Given the description of an element on the screen output the (x, y) to click on. 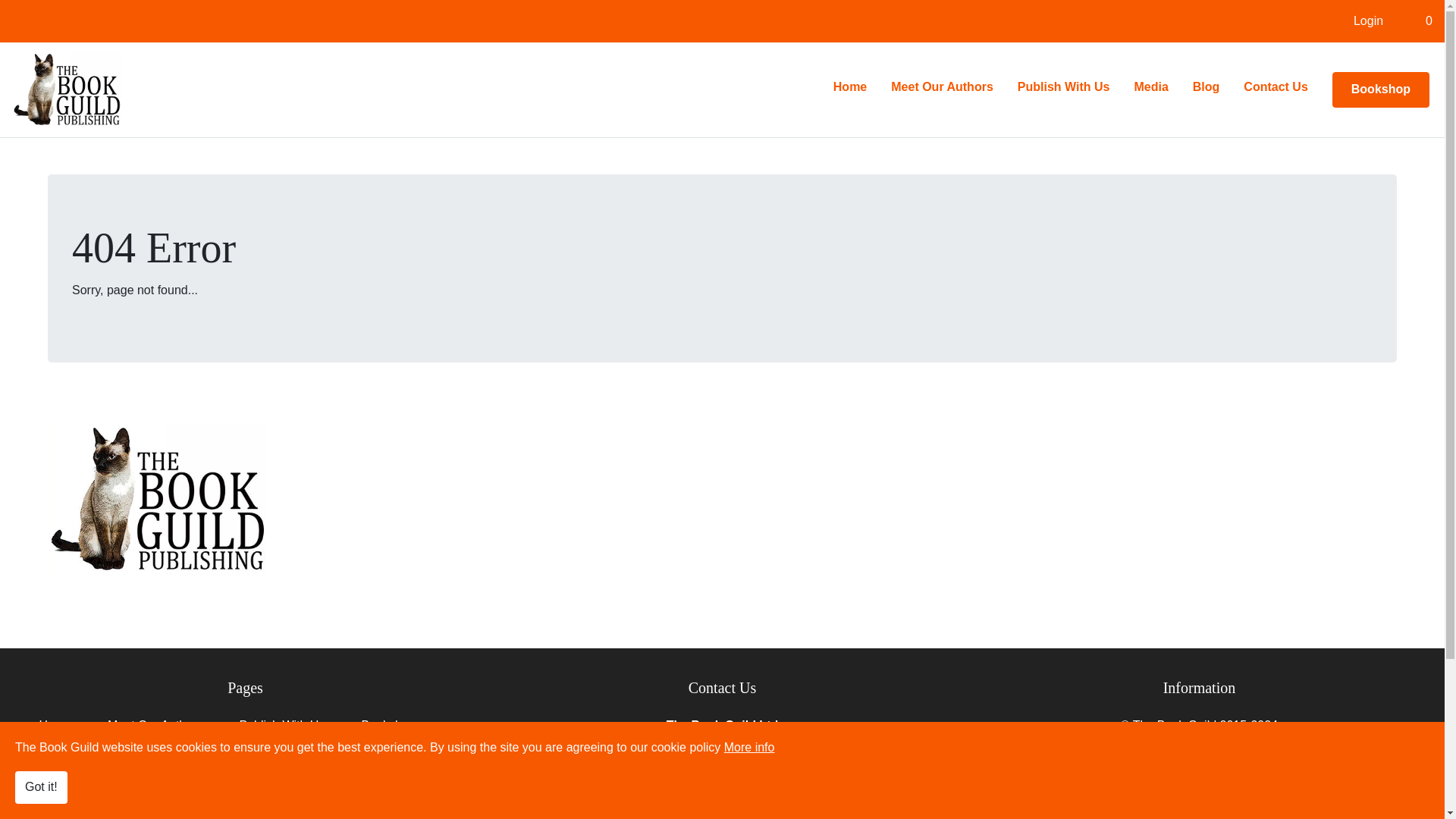
Publish With Us (1063, 87)
Publish With Us (281, 731)
Blog (1205, 87)
Bookshop (1380, 89)
Meet Our Authors (941, 87)
Contact Us (291, 765)
More info (748, 747)
Media (1149, 87)
Bookshop (387, 731)
Login (1367, 20)
